Given the description of an element on the screen output the (x, y) to click on. 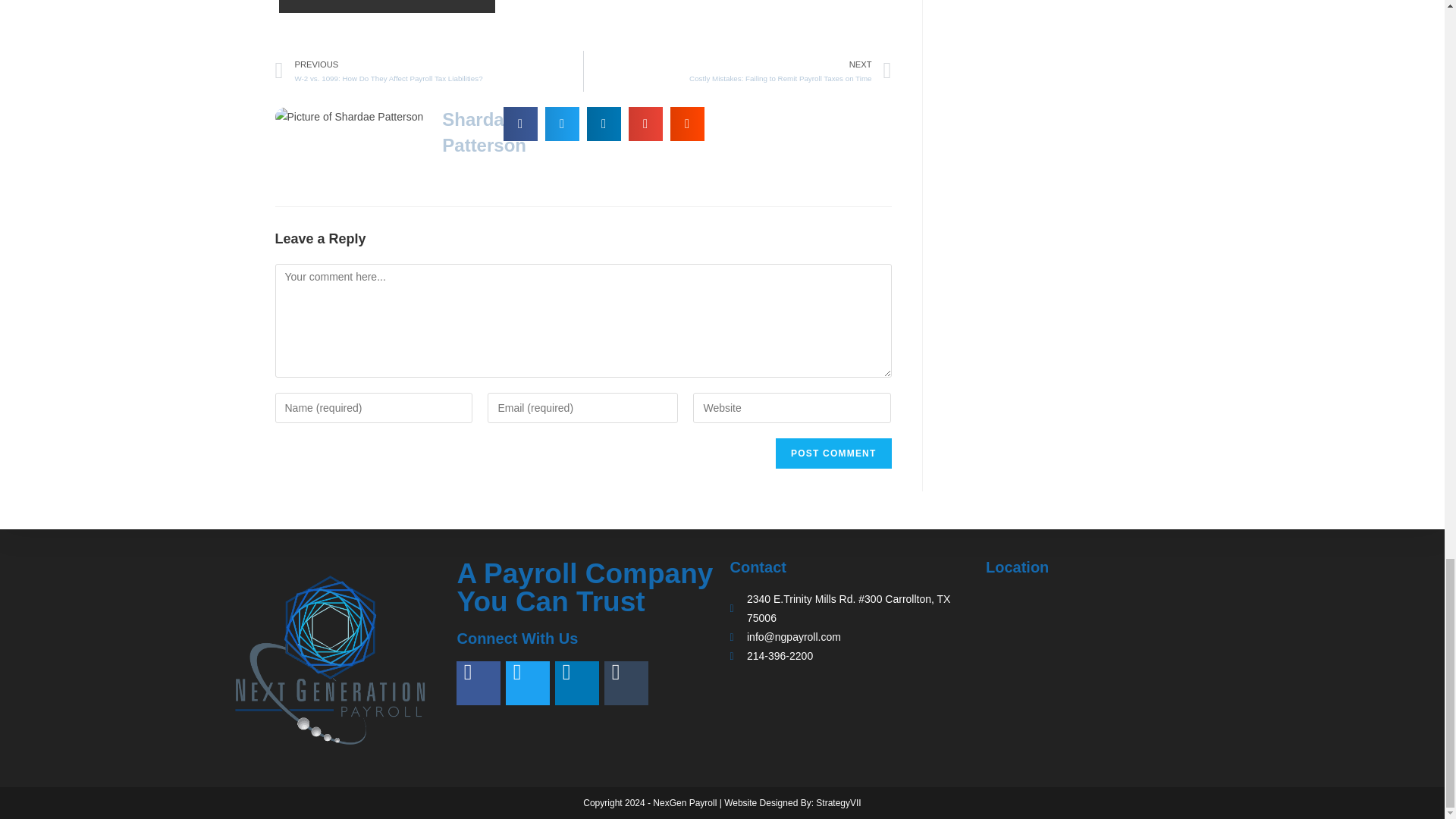
Subscribe To Resources (387, 6)
Post Comment (833, 453)
